Given the description of an element on the screen output the (x, y) to click on. 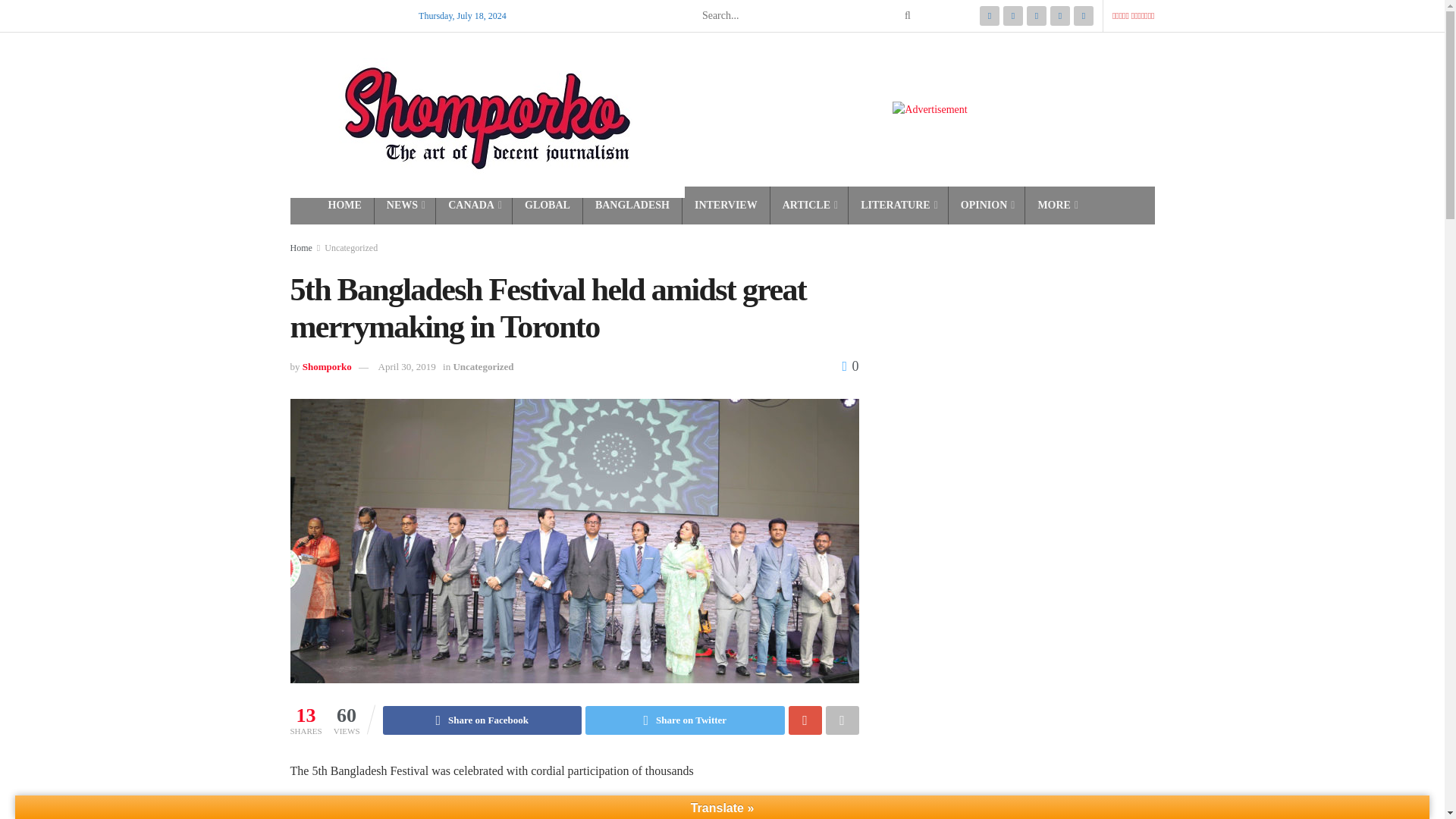
OPINION (986, 205)
NEWS (405, 205)
INTERVIEW (725, 205)
HOME (344, 205)
BANGLADESH (632, 205)
CANADA (473, 205)
MORE (1055, 205)
ARTICLE (809, 205)
GLOBAL (547, 205)
LITERATURE (898, 205)
